Given the description of an element on the screen output the (x, y) to click on. 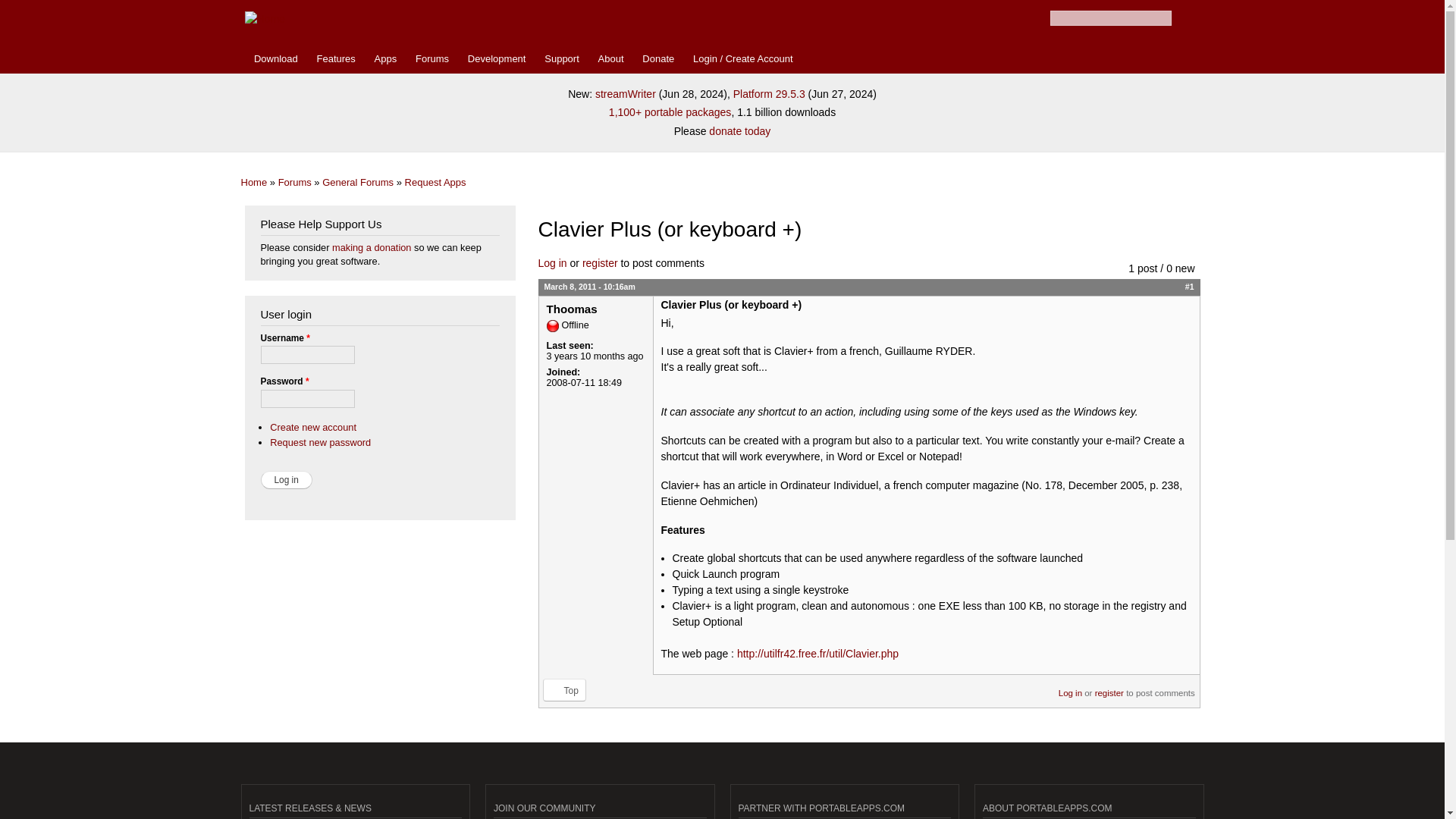
Search (1182, 17)
Log in (286, 479)
Request Apps (434, 182)
register (1109, 687)
Donate (658, 59)
Download (275, 59)
Top (564, 689)
Download the PortableApps.com Platform (275, 59)
streamWriter (625, 93)
Enter the terms you wish to search for. (1109, 17)
